Given the description of an element on the screen output the (x, y) to click on. 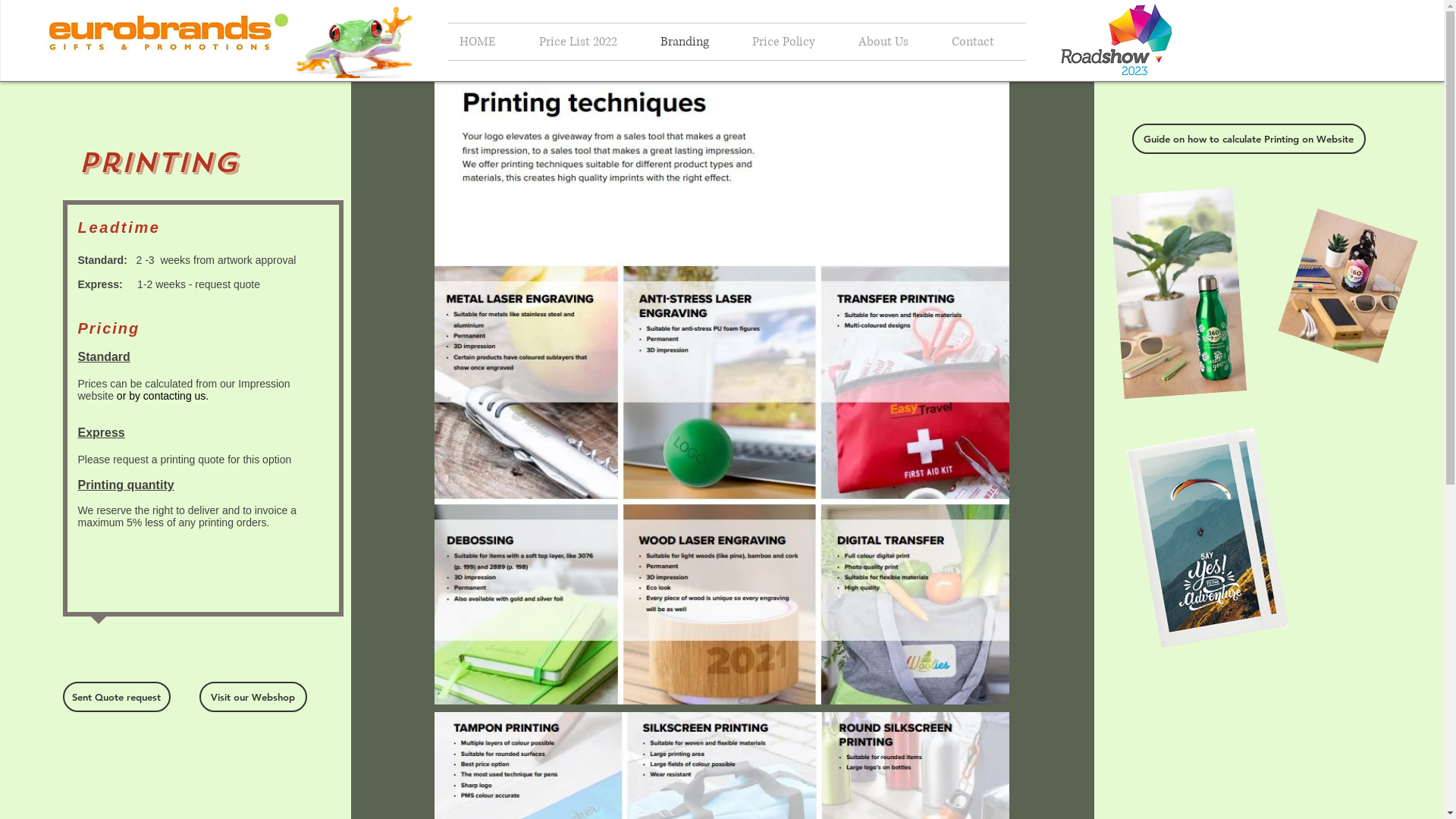
HOME Element type: text (487, 41)
Visit our Webshop Element type: text (252, 696)
Guide on how to calculate Printing on Website Element type: text (1248, 138)
Price Policy Element type: text (793, 41)
Branding Element type: text (694, 41)
About Us Element type: text (892, 41)
Contact Element type: text (983, 41)
Price List 2022 Element type: text (588, 41)
Sent Quote request Element type: text (115, 696)
